Given the description of an element on the screen output the (x, y) to click on. 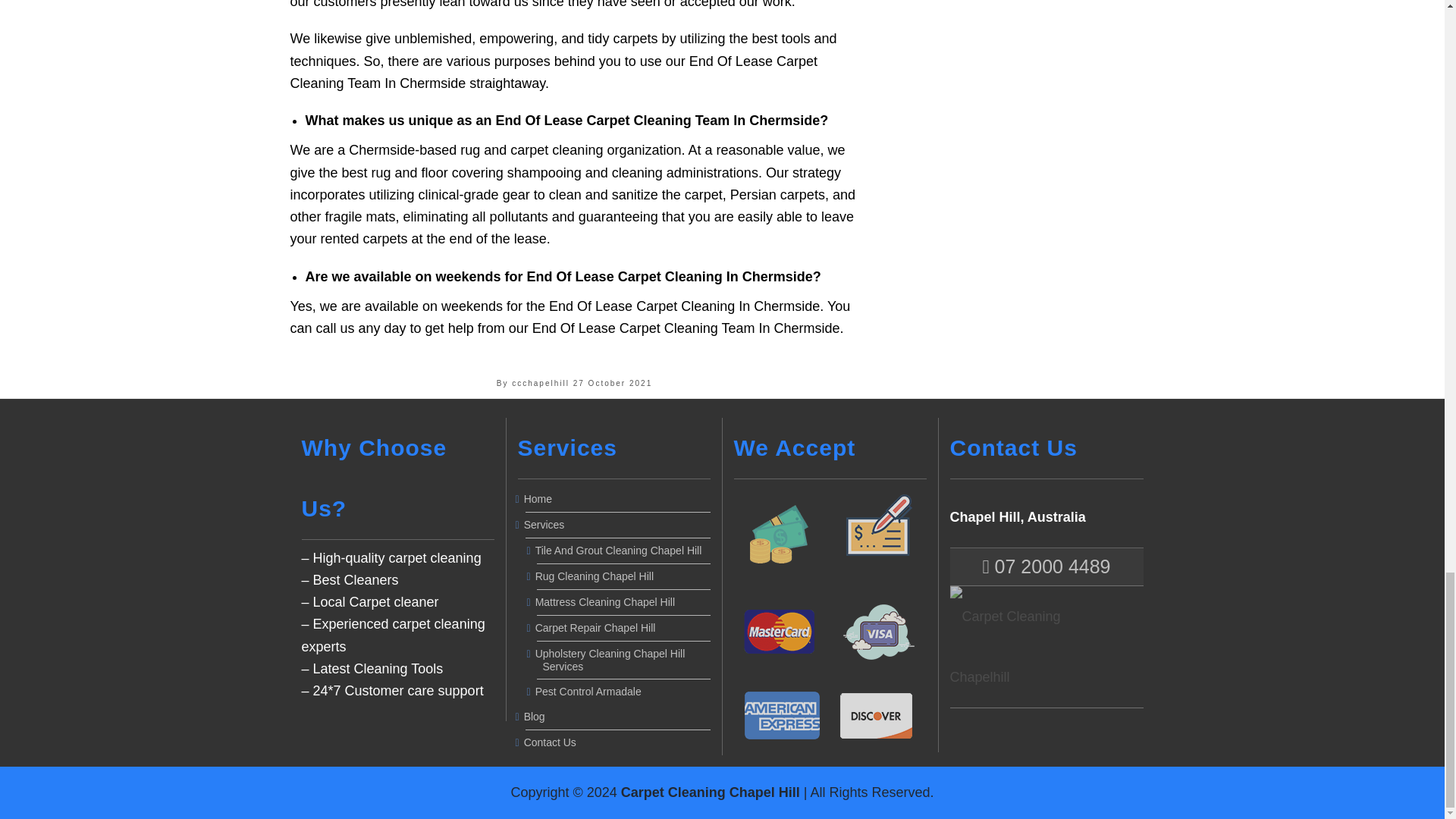
Rug Cleaning Chapel Hill (623, 576)
Tile And Grout Cleaning Chapel Hill (623, 551)
Carpet Repair Chapel Hill (623, 628)
Pest Control Armadale (623, 691)
Mattress Cleaning Chapel Hill (623, 602)
Home (617, 499)
Upholstery Cleaning Chapel Hill Services (623, 660)
Services (617, 525)
